Given the description of an element on the screen output the (x, y) to click on. 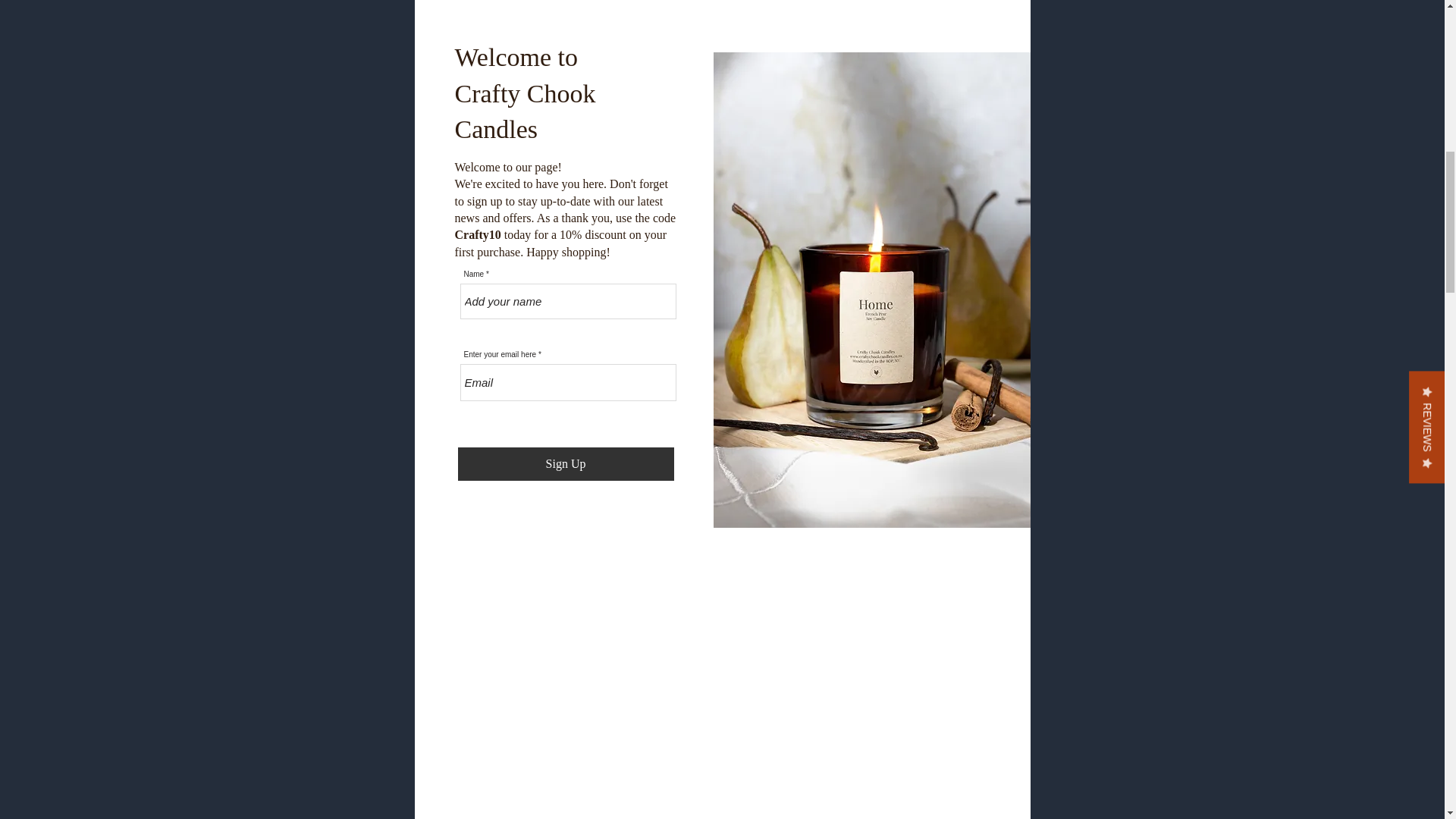
Shop Candles (369, 278)
Get in touch (975, 786)
